Given the description of an element on the screen output the (x, y) to click on. 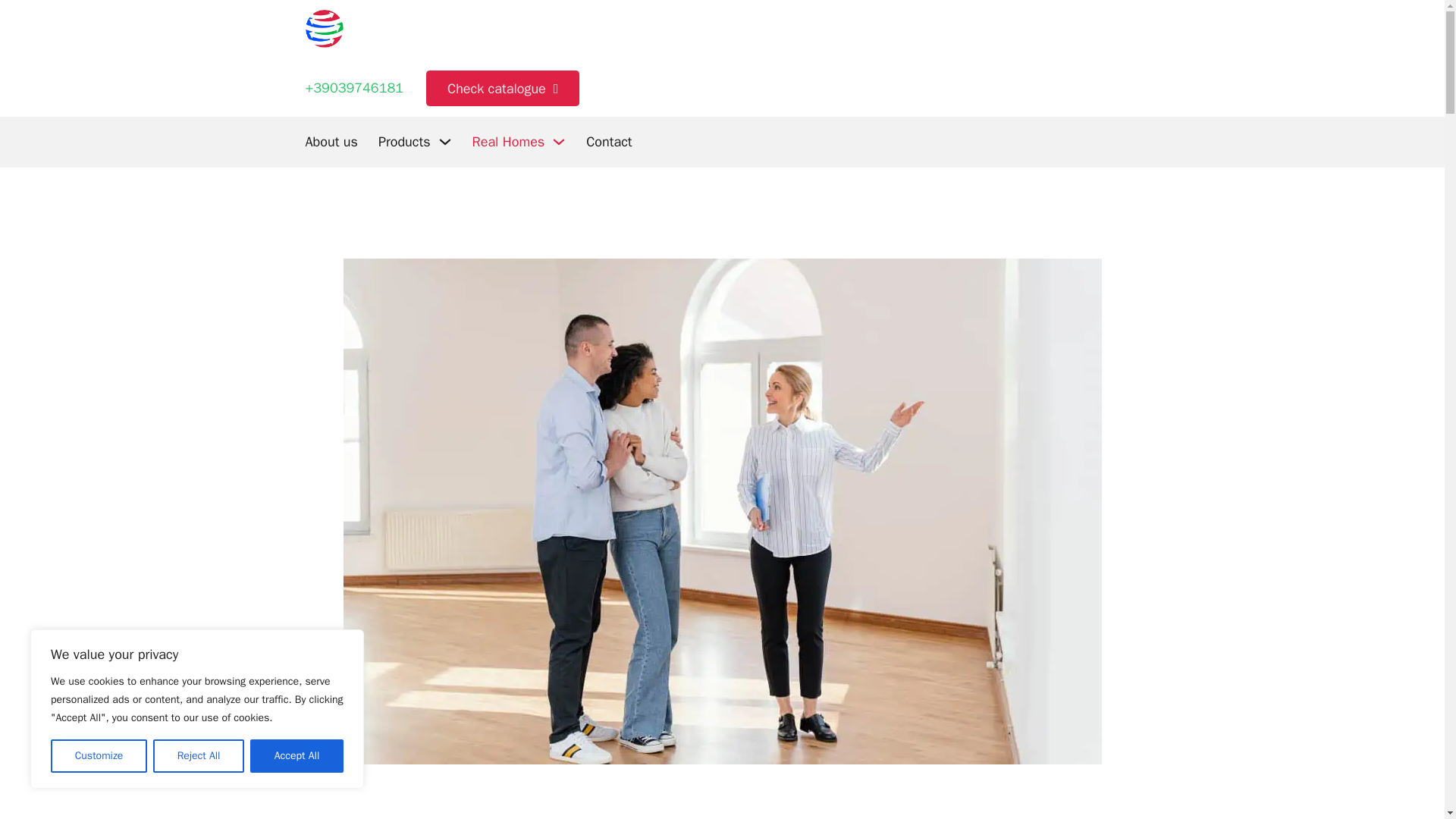
Accept All (296, 756)
Contact (608, 141)
Products (404, 141)
Reject All (198, 756)
Real Homes (507, 141)
About us (330, 141)
Customize (98, 756)
Check catalogue (502, 88)
